Given the description of an element on the screen output the (x, y) to click on. 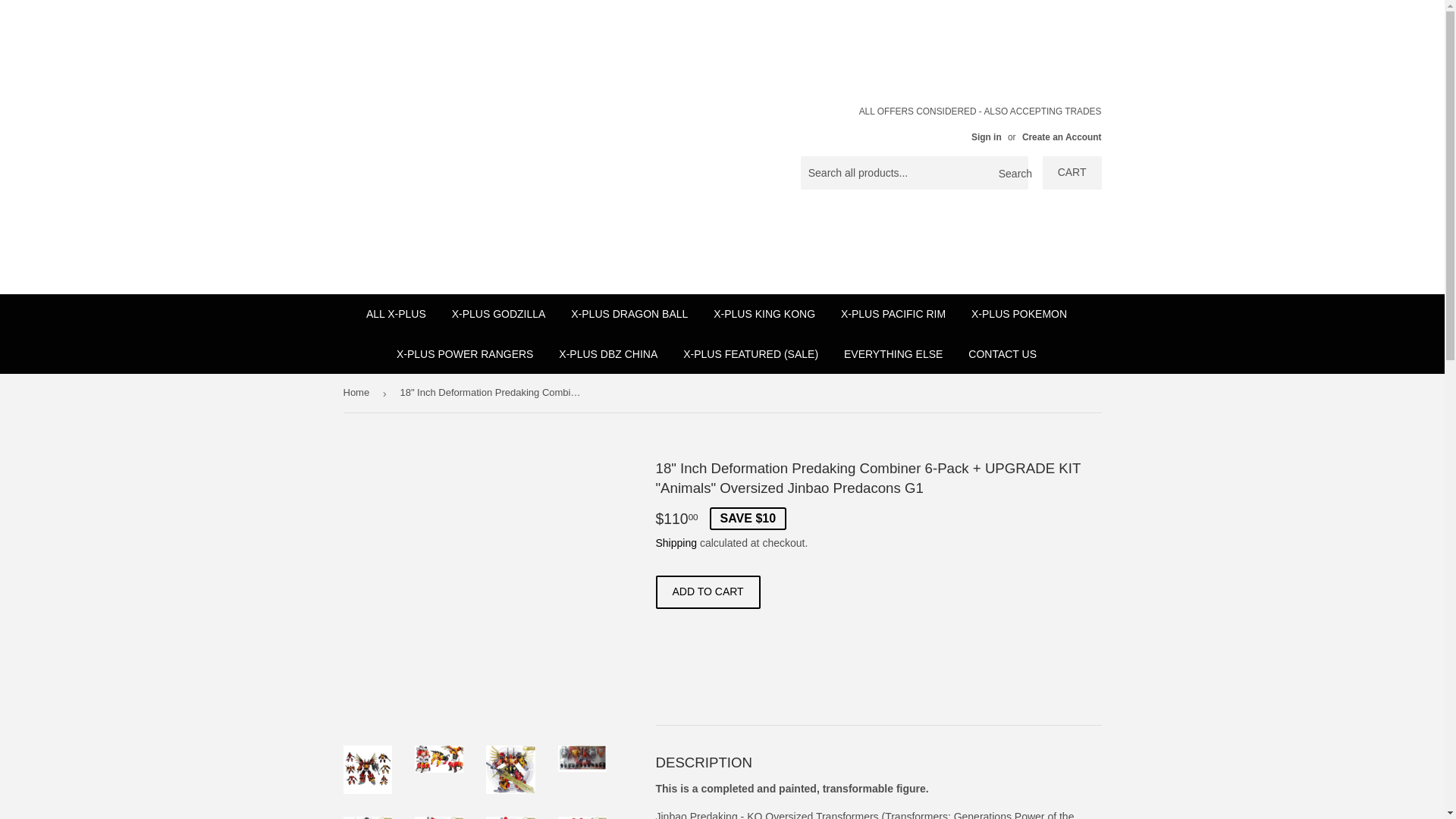
Sign in (986, 136)
CART (1072, 172)
Create an Account (1062, 136)
Search (1010, 173)
